Given the description of an element on the screen output the (x, y) to click on. 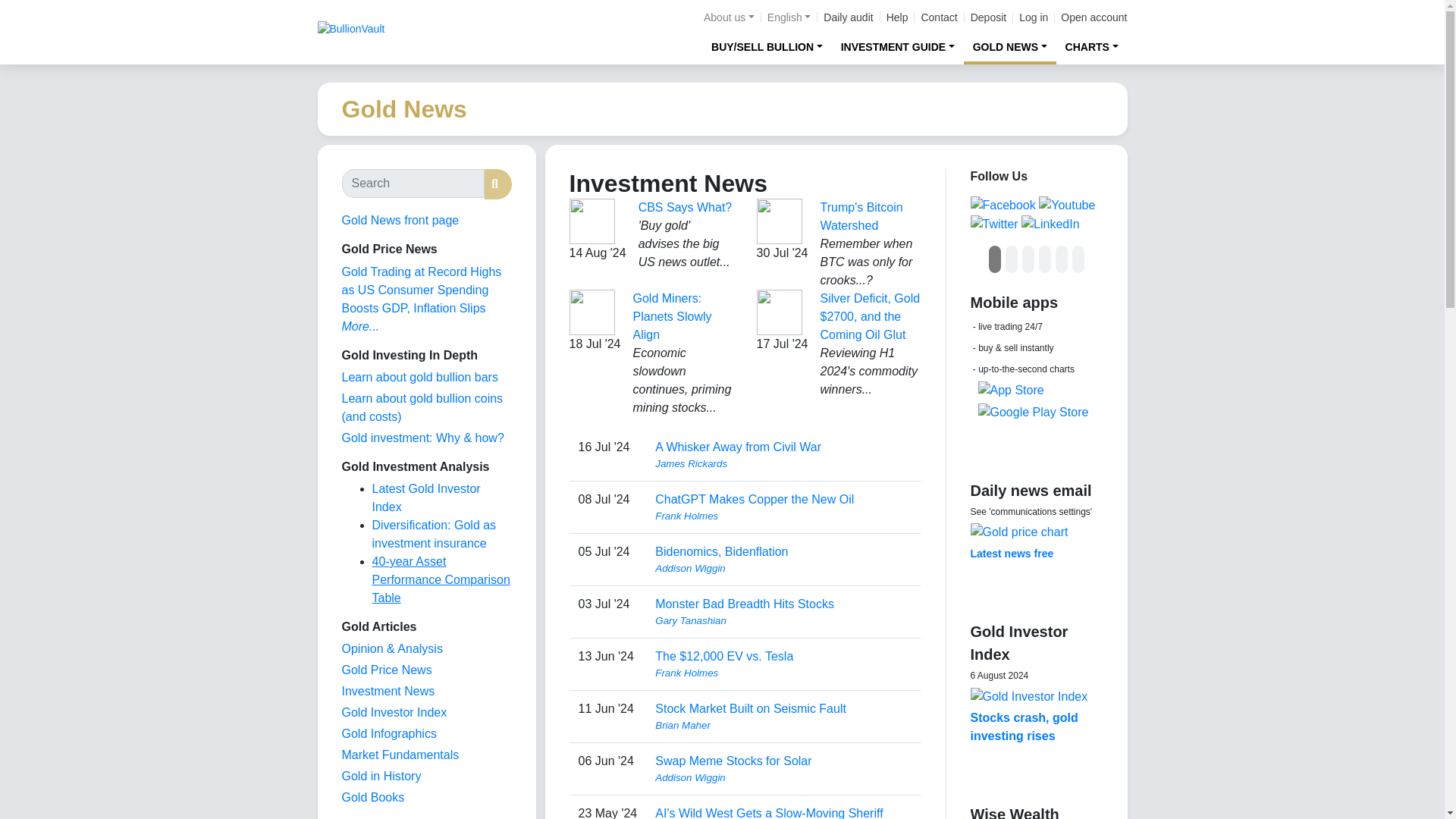
View user profile. (783, 463)
Market Fundamentals (399, 754)
Gold Infographics (387, 733)
Books about Gold Reviewed (372, 797)
Enter the terms you wish to search for. (411, 183)
Investment News (386, 690)
Gold in History (380, 775)
Contact (938, 17)
About us (728, 17)
View user profile. (783, 777)
